Given the description of an element on the screen output the (x, y) to click on. 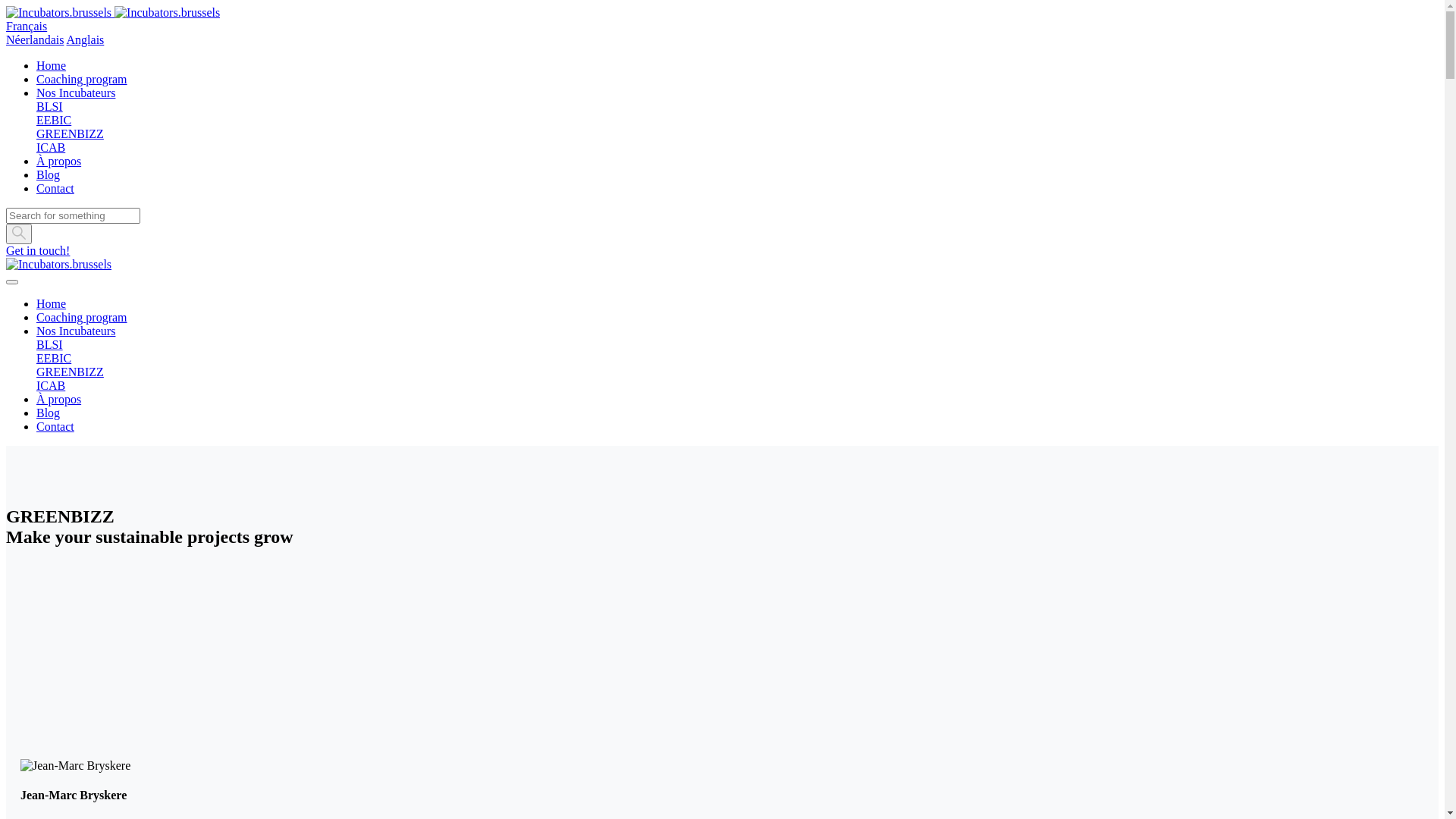
GREENBIZZ Element type: text (69, 133)
Blog Element type: text (47, 174)
ICAB Element type: text (50, 147)
Nos Incubateurs Element type: text (75, 92)
ICAB Element type: text (50, 385)
Get in touch! Element type: text (37, 250)
Home Element type: text (50, 303)
Contact Element type: text (55, 188)
Anglais Element type: text (85, 39)
Blog Element type: text (47, 412)
Coaching program Element type: text (81, 316)
EEBIC Element type: text (53, 357)
Home Element type: text (50, 65)
GREENBIZZ Element type: text (69, 371)
BLSI Element type: text (49, 106)
Coaching program Element type: text (81, 78)
Contact Element type: text (55, 426)
Shape Element type: text (18, 233)
BLSI Element type: text (49, 344)
Nos Incubateurs Element type: text (75, 330)
EEBIC Element type: text (53, 119)
